Given the description of an element on the screen output the (x, y) to click on. 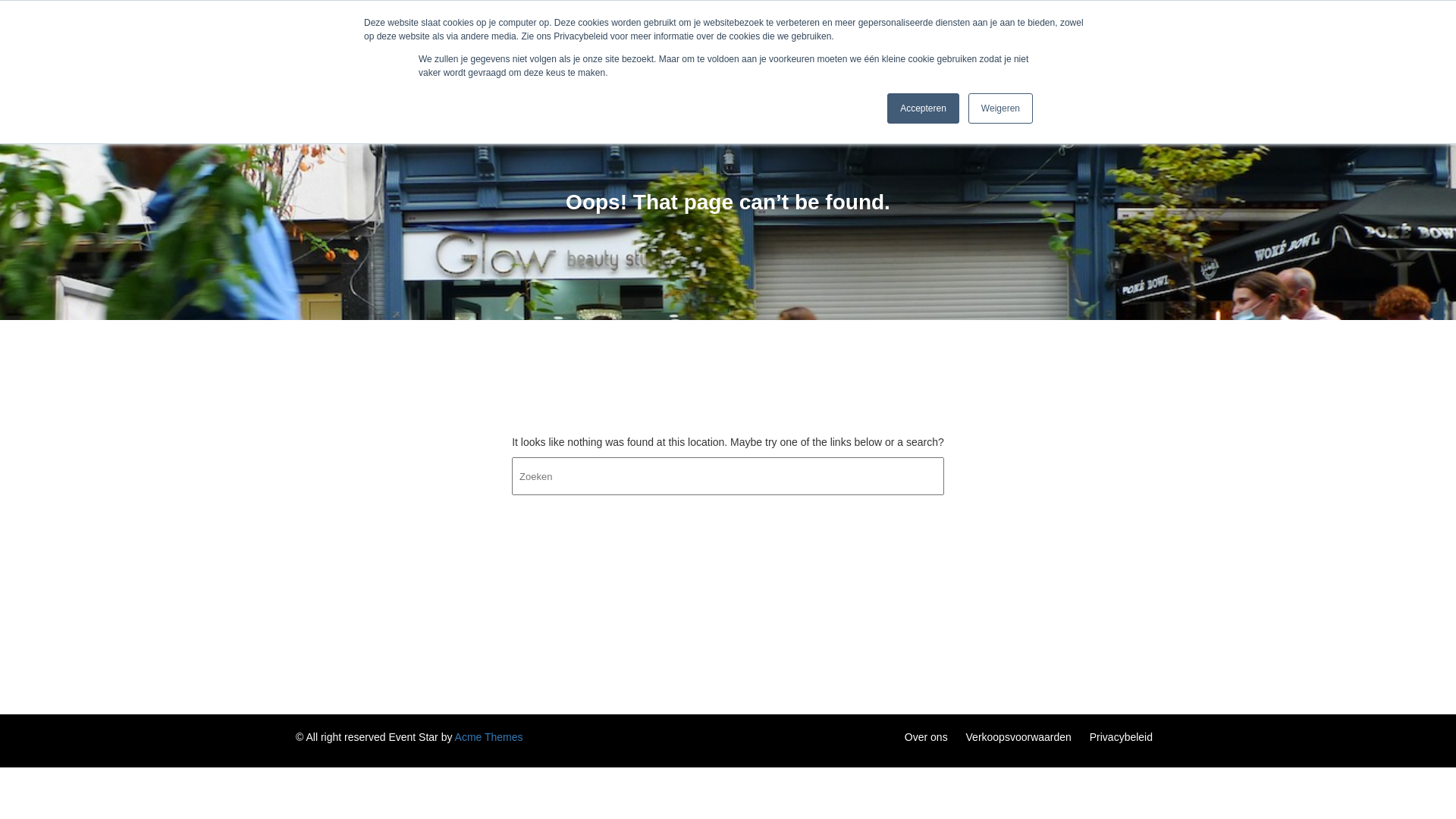
Home Element type: text (787, 48)
Weigeren Element type: text (1000, 108)
Privacybeleid Element type: text (1120, 737)
COMMONSCONGRES Element type: text (411, 40)
Verkoopsvoorwaarden Element type: text (1018, 737)
Live Element type: text (1050, 48)
Congres Element type: text (855, 49)
Over ons Element type: text (925, 737)
Acme Themes Element type: text (489, 737)
Skip to content Element type: text (0, 21)
Evaluatie Element type: text (1110, 48)
Accepteren Element type: text (923, 108)
Contact Element type: text (993, 48)
Nieuws Element type: text (927, 48)
